Given the description of an element on the screen output the (x, y) to click on. 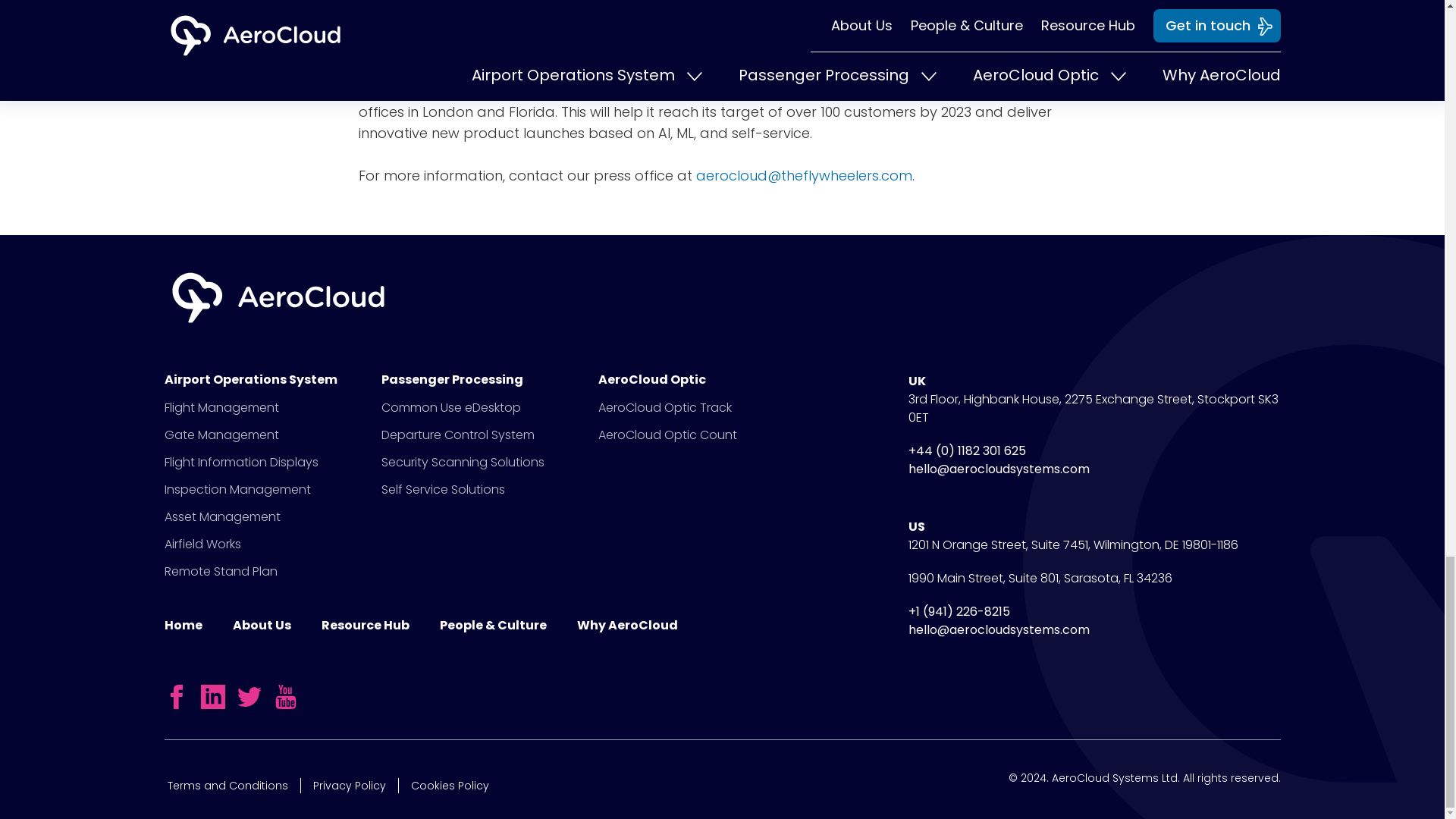
Praetura Ventures (1014, 47)
Starburst Ventures (421, 68)
AeroCloud Optic (510, 26)
I2BF Global Ventures (733, 47)
Stage 2 Capital (447, 47)
Playfair Capital (691, 68)
Flight Management (220, 407)
Airport Operations System (256, 379)
Haatch (803, 68)
Triple Point Ventures (878, 47)
